Given the description of an element on the screen output the (x, y) to click on. 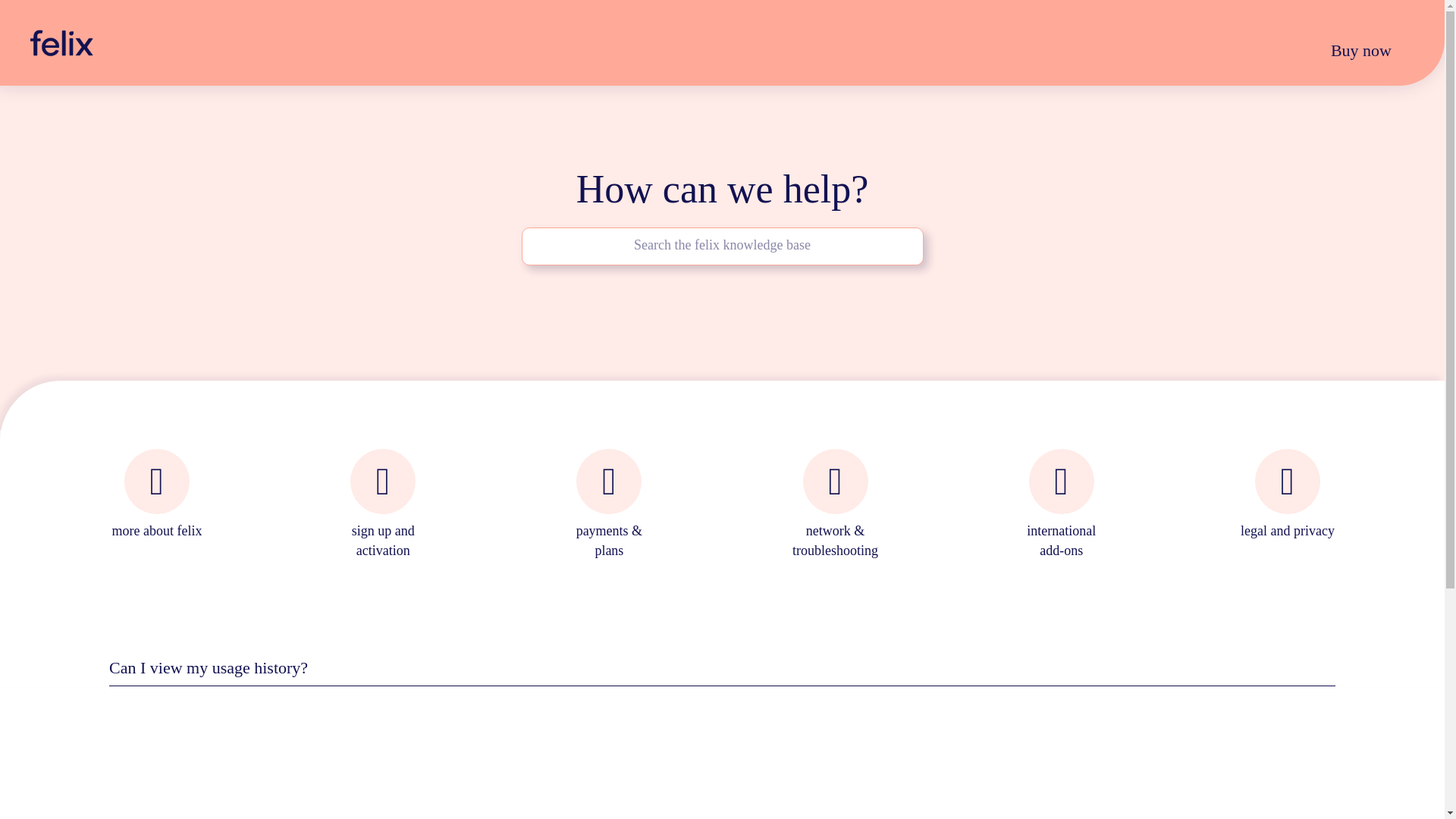
Buy now (1360, 49)
